Given the description of an element on the screen output the (x, y) to click on. 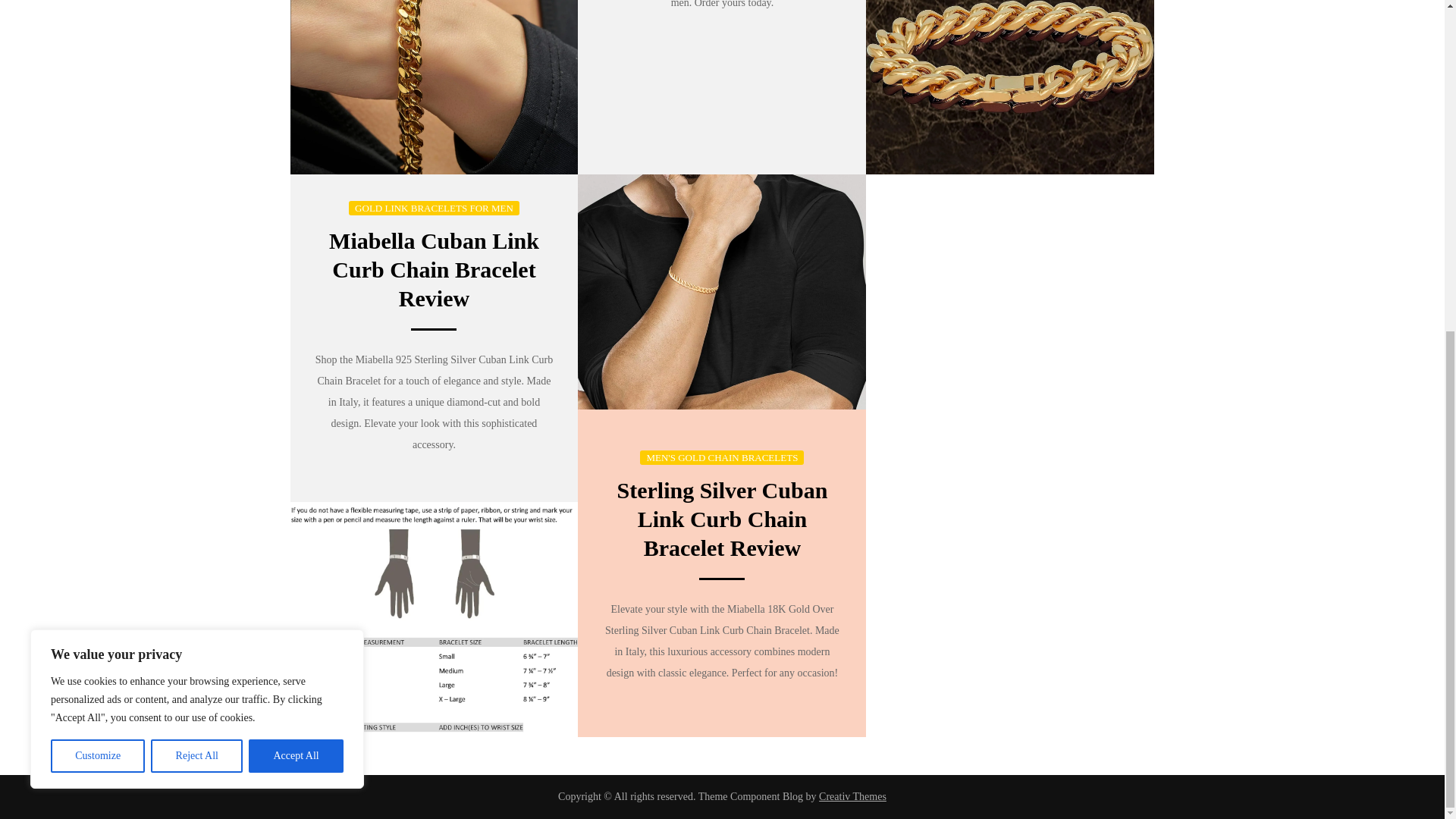
Reject All (197, 205)
Accept All (295, 205)
Customize (97, 205)
